Given the description of an element on the screen output the (x, y) to click on. 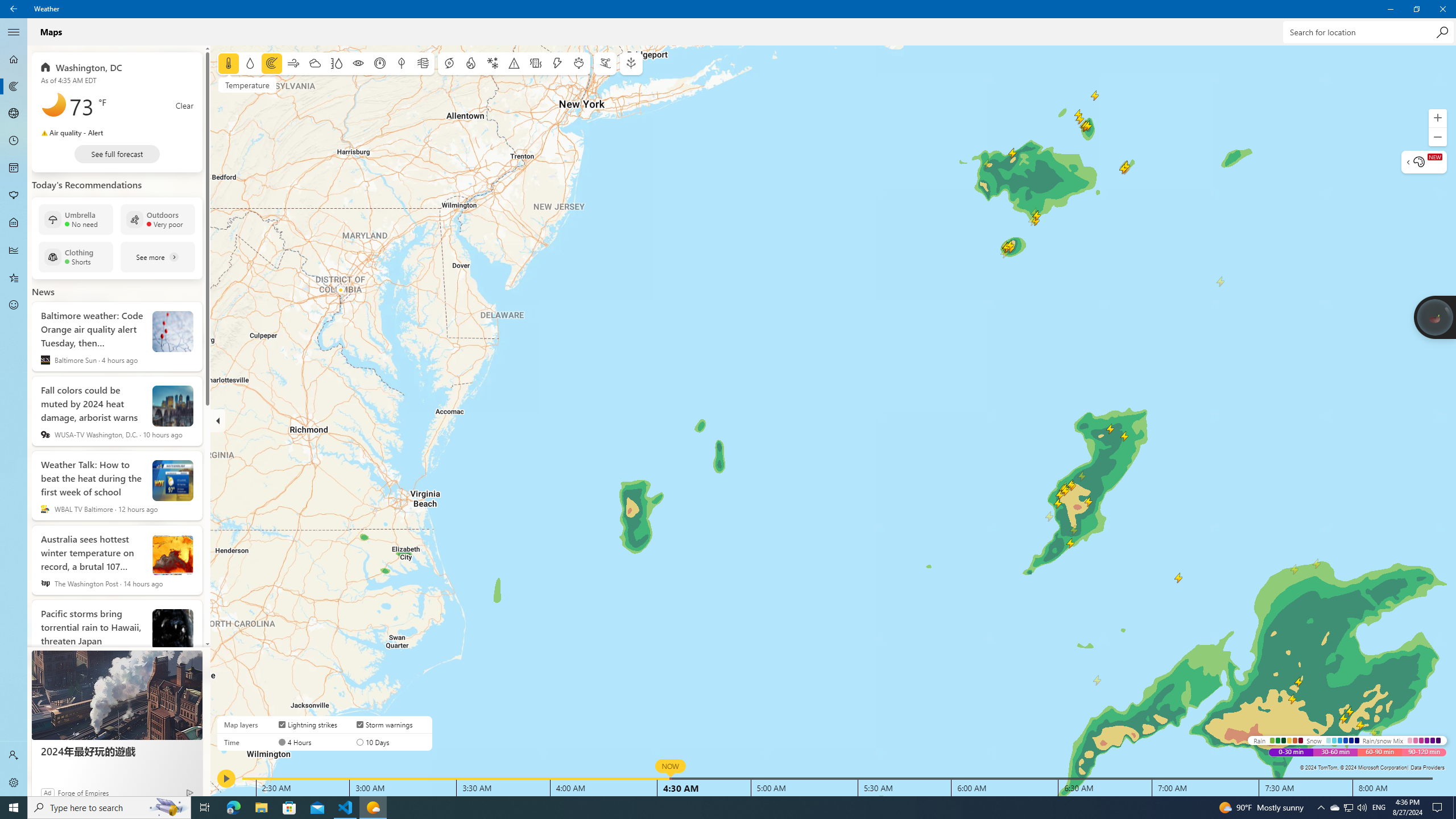
Search for location (1367, 32)
Sign in (13, 755)
Forecast - Not Selected (13, 58)
Minimize Weather (1390, 9)
Tray Input Indicator - English (United States) (1378, 807)
